Given the description of an element on the screen output the (x, y) to click on. 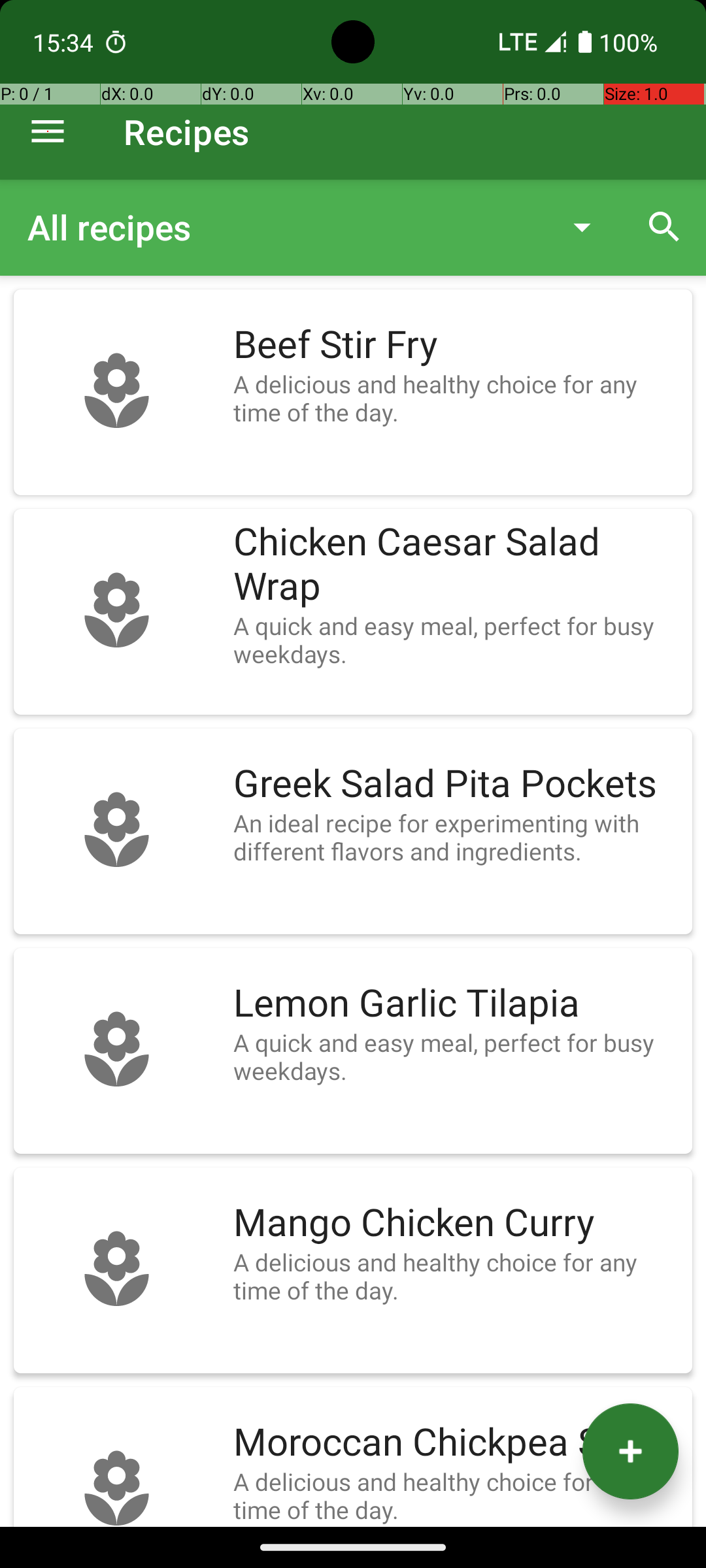
Mango Chicken Curry Element type: android.widget.TextView (455, 1222)
